Given the description of an element on the screen output the (x, y) to click on. 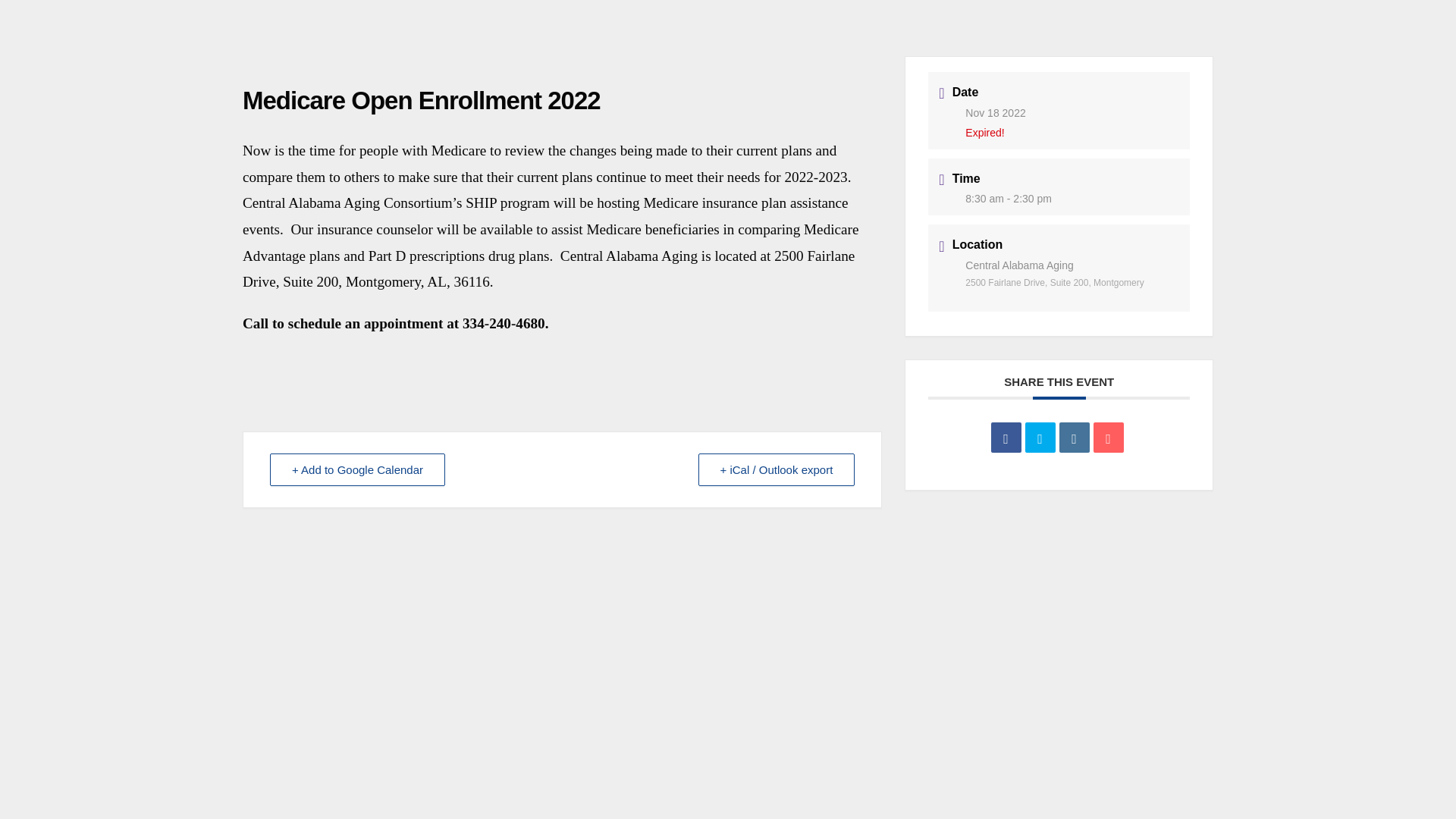
Tweet (1040, 437)
Linkedin (1074, 437)
Share on Facebook (1006, 437)
Email (1108, 437)
